Given the description of an element on the screen output the (x, y) to click on. 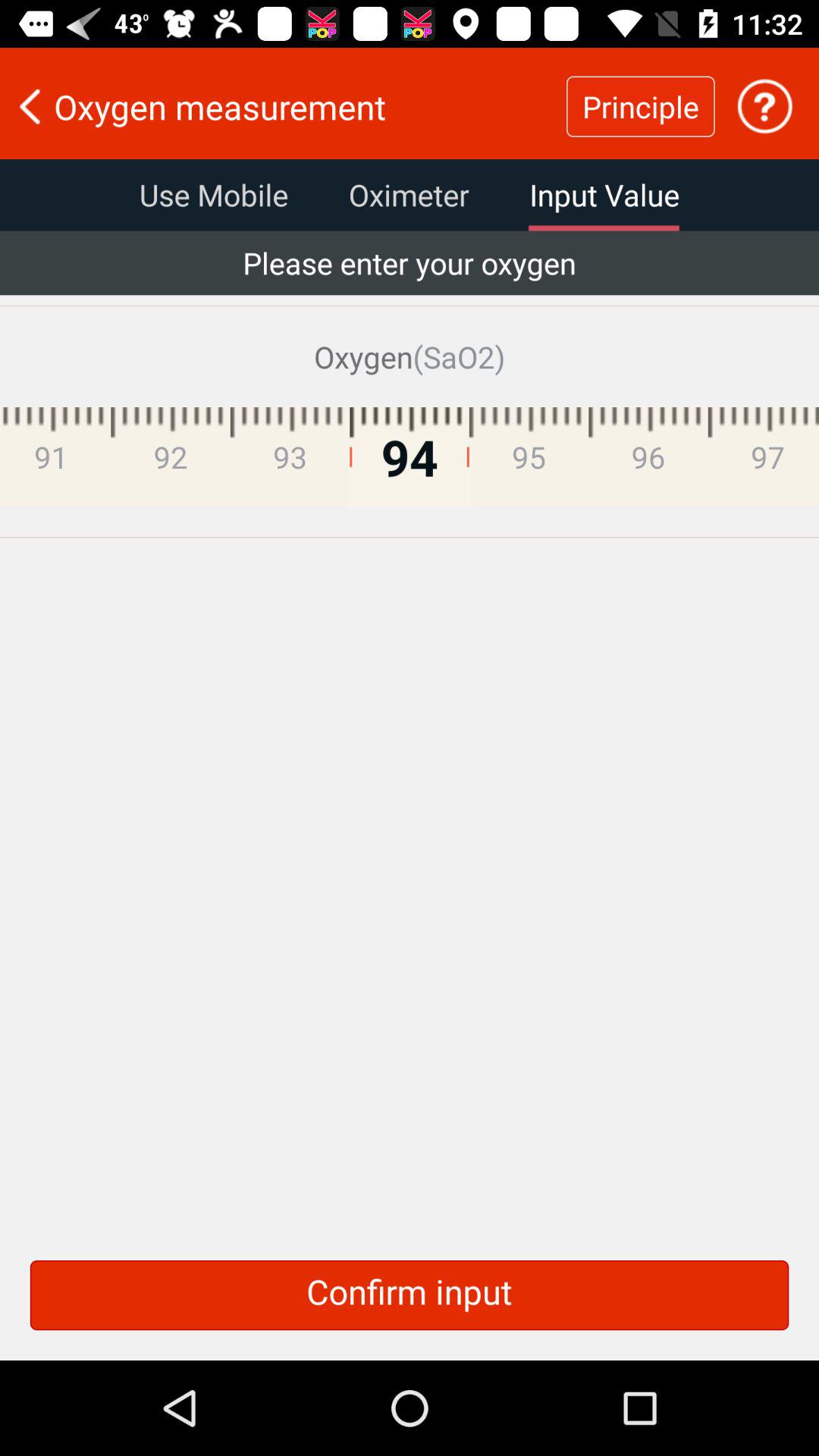
turn off the icon to the right of use mobile (408, 194)
